Given the description of an element on the screen output the (x, y) to click on. 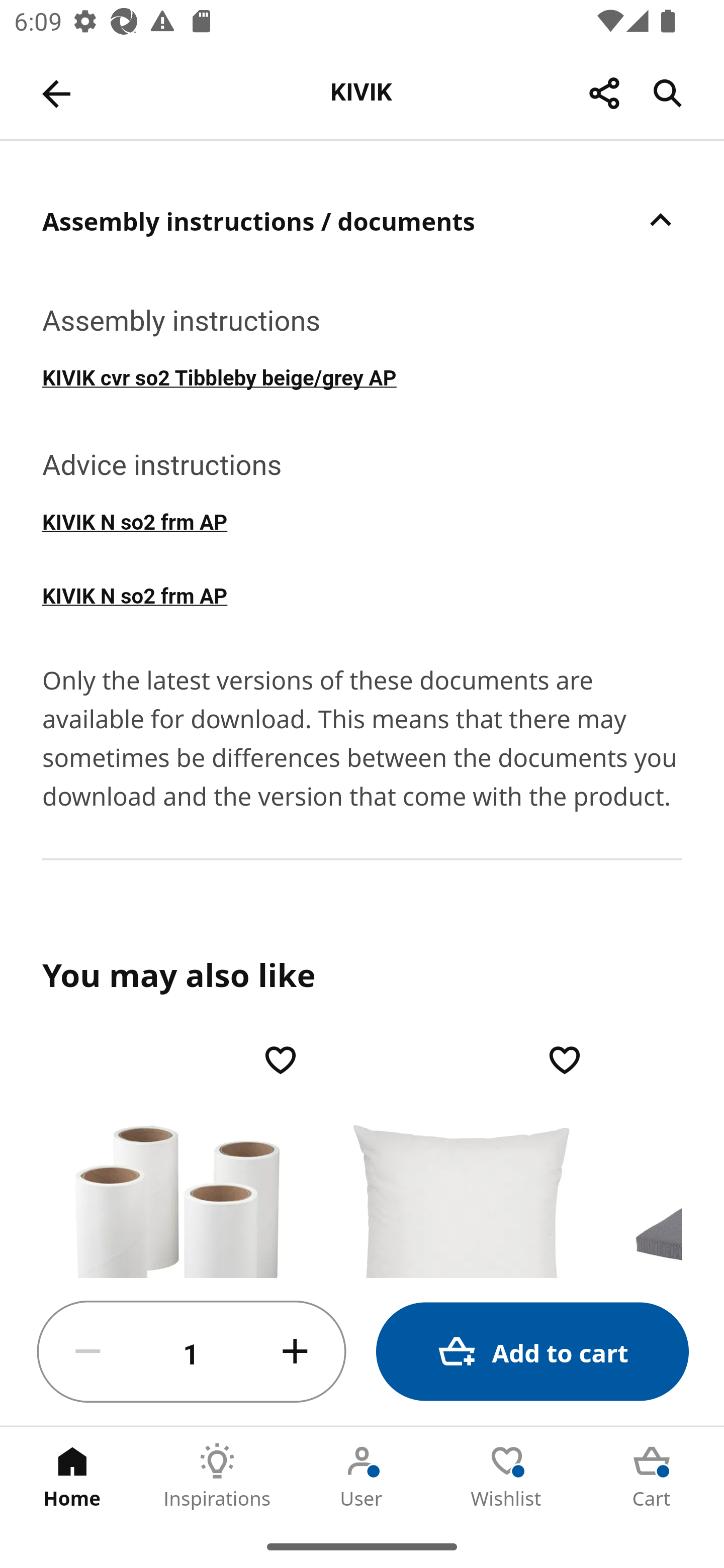
Assembly instructions / documents (361, 219)
KIVIK cvr so2 Tibbleby beige/grey AP (361, 376)
KIVIK N so2 frm AP (361, 520)
KIVIK N so2 frm AP (361, 593)
​B​Ä​S​T​I​S​
lint roller refill
$
19
.9 (176, 1158)
Add to cart (531, 1352)
1 (191, 1352)
Home
Tab 1 of 5 (72, 1476)
Inspirations
Tab 2 of 5 (216, 1476)
User
Tab 3 of 5 (361, 1476)
Wishlist
Tab 4 of 5 (506, 1476)
Cart
Tab 5 of 5 (651, 1476)
